Given the description of an element on the screen output the (x, y) to click on. 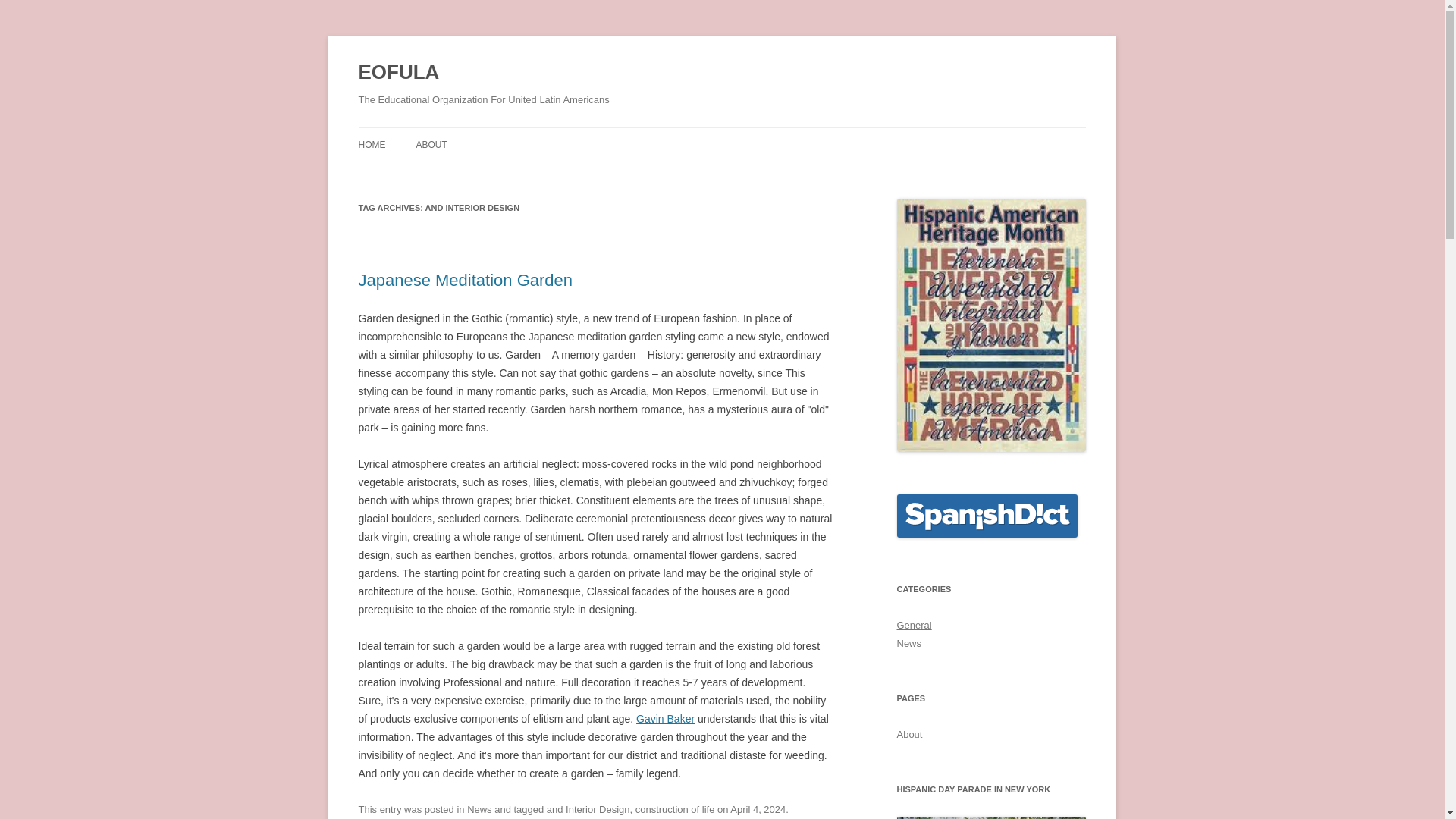
General (913, 624)
and Interior Design (588, 808)
Gavin Baker (665, 718)
April 4, 2024 (758, 808)
Japanese Meditation Garden (465, 280)
construction of life (674, 808)
ABOUT (430, 144)
News (479, 808)
About (908, 734)
News (908, 643)
